Given the description of an element on the screen output the (x, y) to click on. 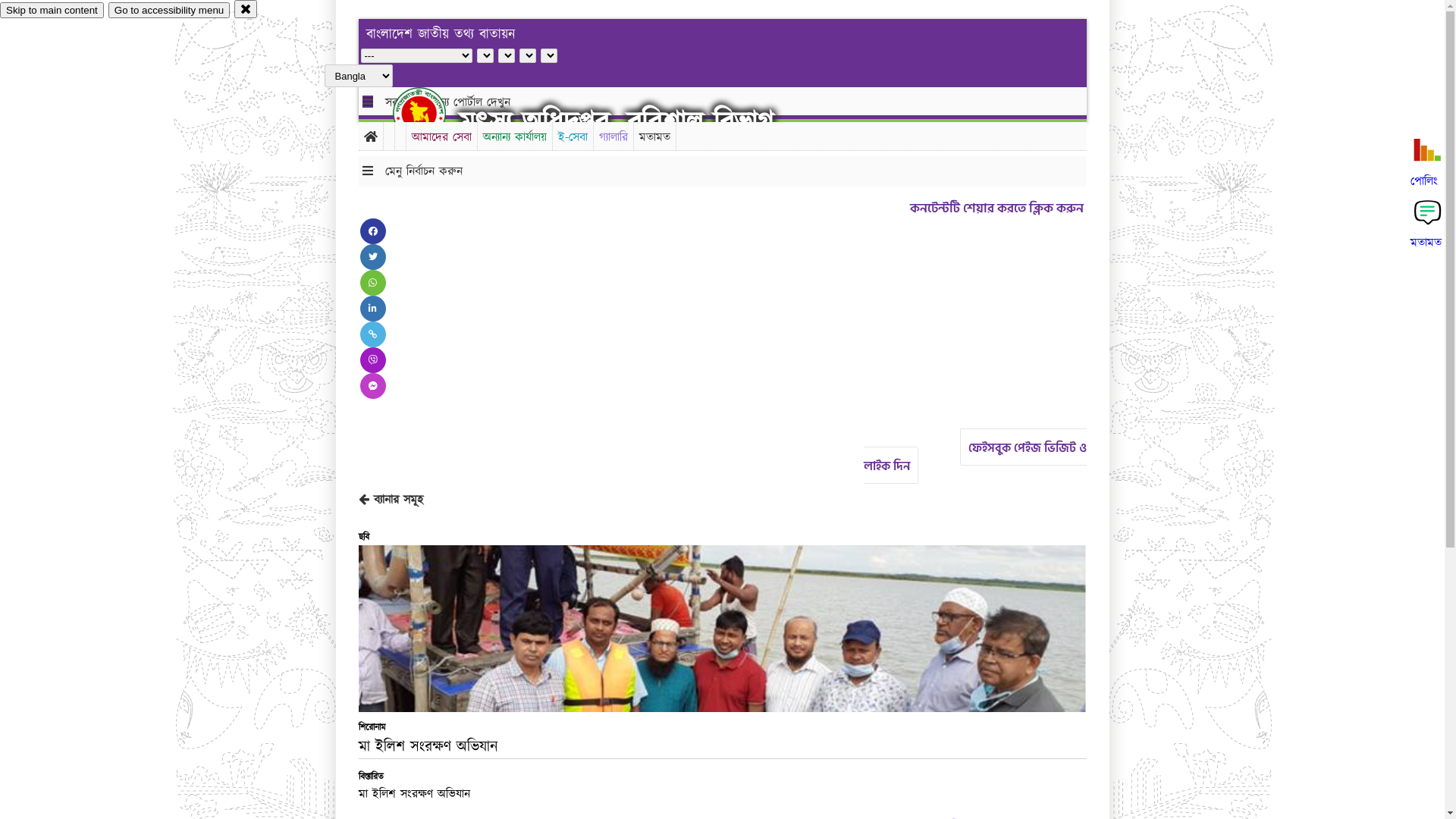
Skip to main content Element type: text (51, 10)
close Element type: hover (245, 9)
Go to accessibility menu Element type: text (168, 10)

                
             Element type: hover (431, 112)
